Given the description of an element on the screen output the (x, y) to click on. 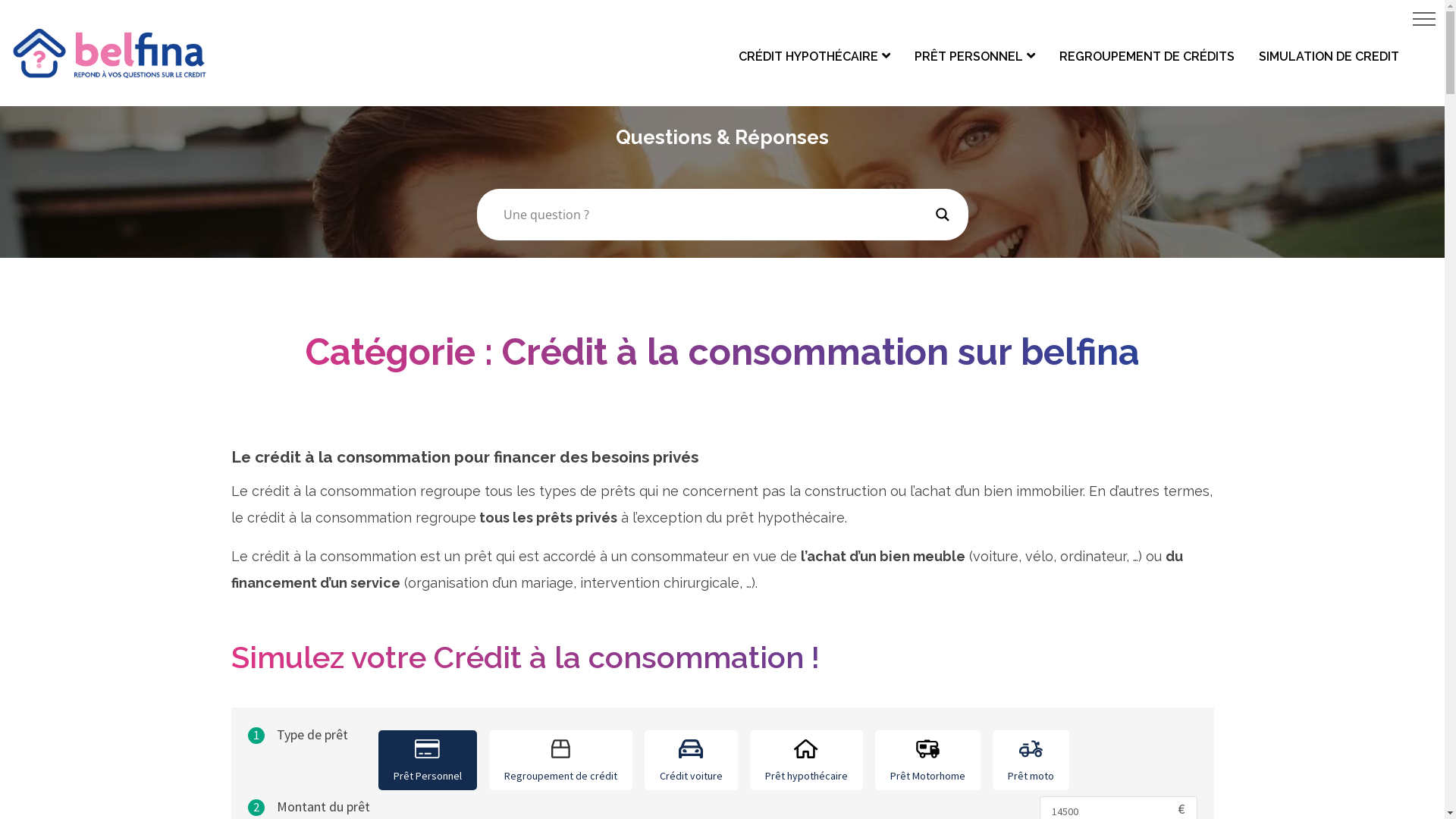
SIMULATION DE CREDIT Element type: text (1328, 55)
